Given the description of an element on the screen output the (x, y) to click on. 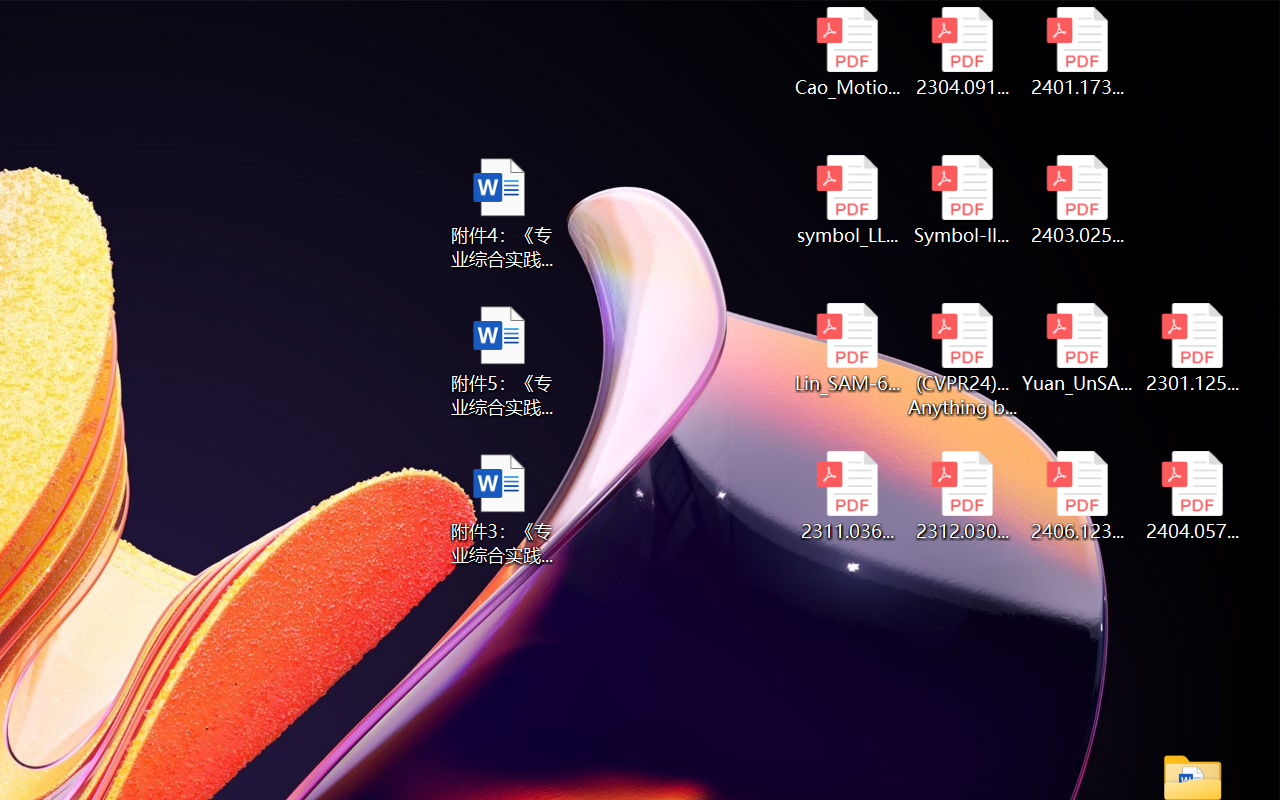
2401.17399v1.pdf (1077, 52)
